Given the description of an element on the screen output the (x, y) to click on. 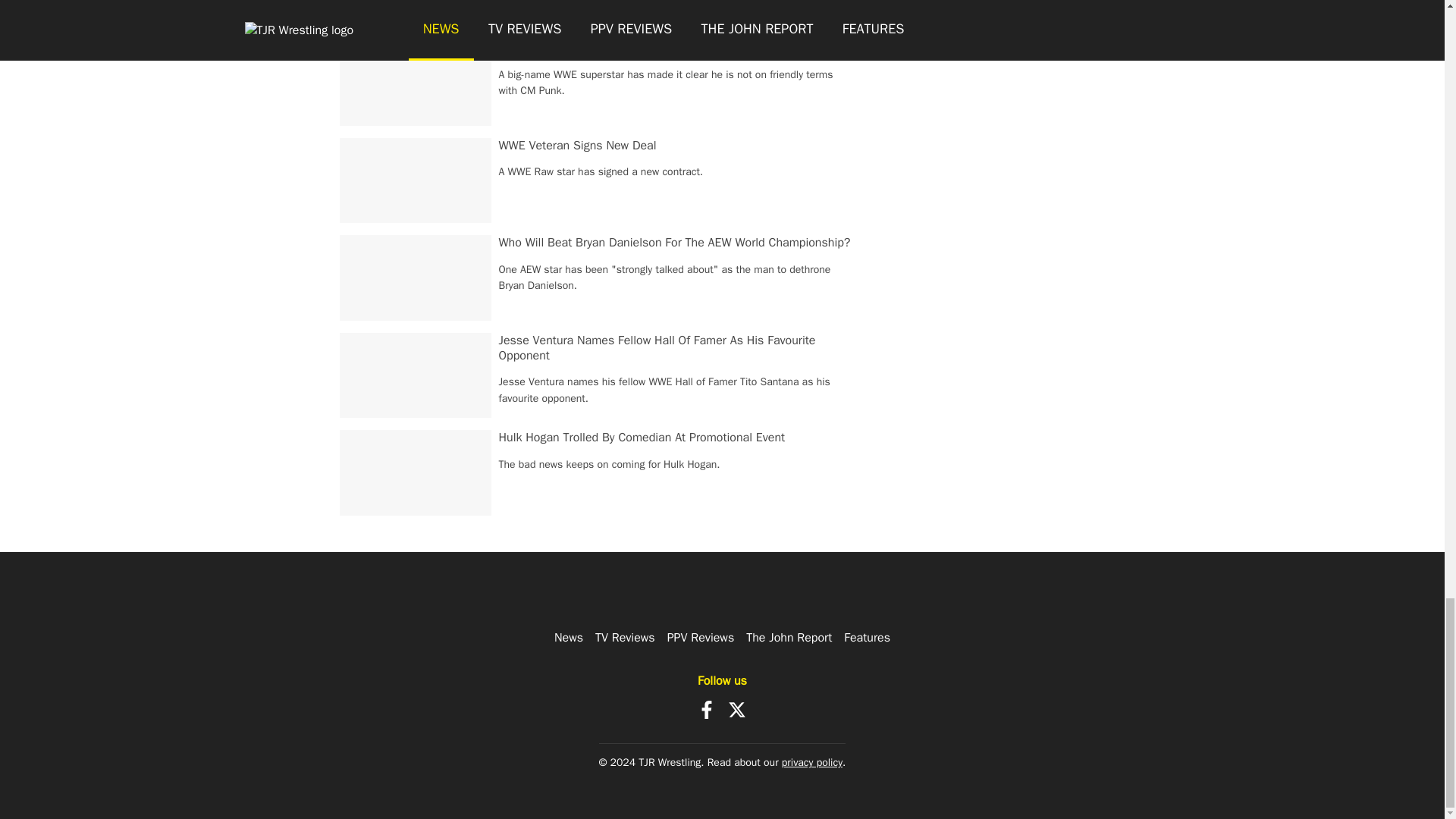
X (736, 710)
Facebook (706, 710)
WWE Veteran Signs New Deal (577, 145)
Top WWE Star Says CM Punk Is Not A Friend Of His (635, 47)
